Given the description of an element on the screen output the (x, y) to click on. 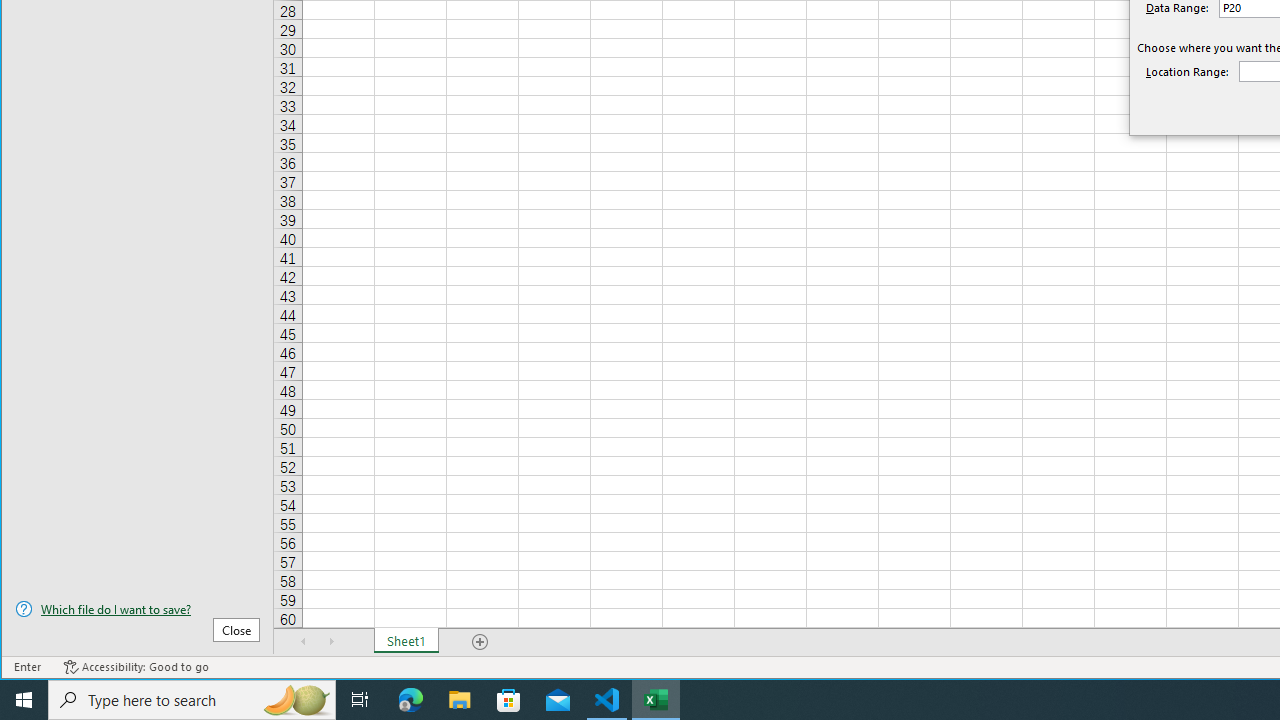
Sheet1 (406, 641)
Which file do I want to save? (137, 609)
Accessibility Checker Accessibility: Good to go (136, 667)
Add Sheet (481, 641)
Scroll Right (331, 641)
Scroll Left (303, 641)
Close (235, 629)
